Given the description of an element on the screen output the (x, y) to click on. 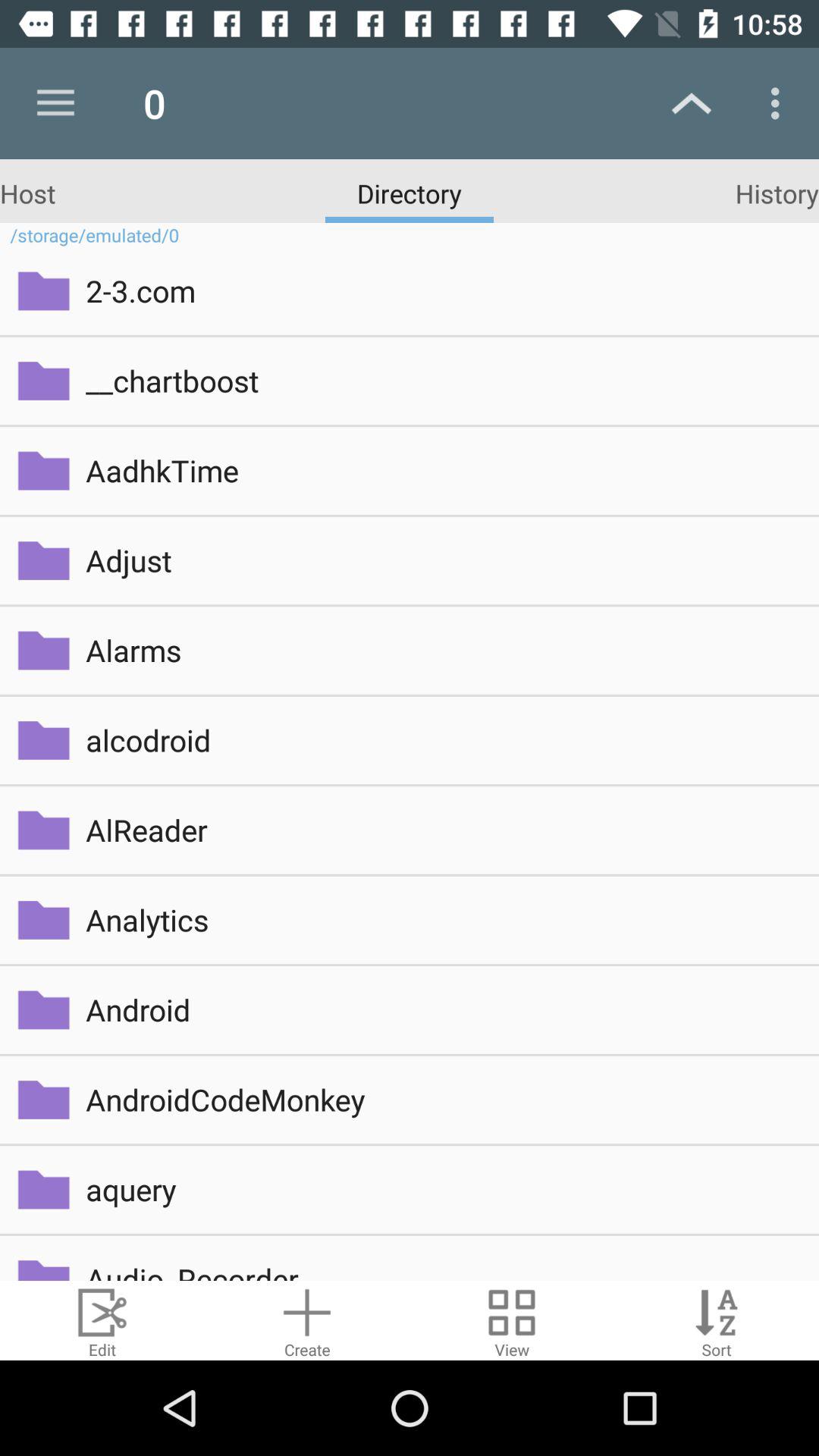
switch view (511, 1320)
